Given the description of an element on the screen output the (x, y) to click on. 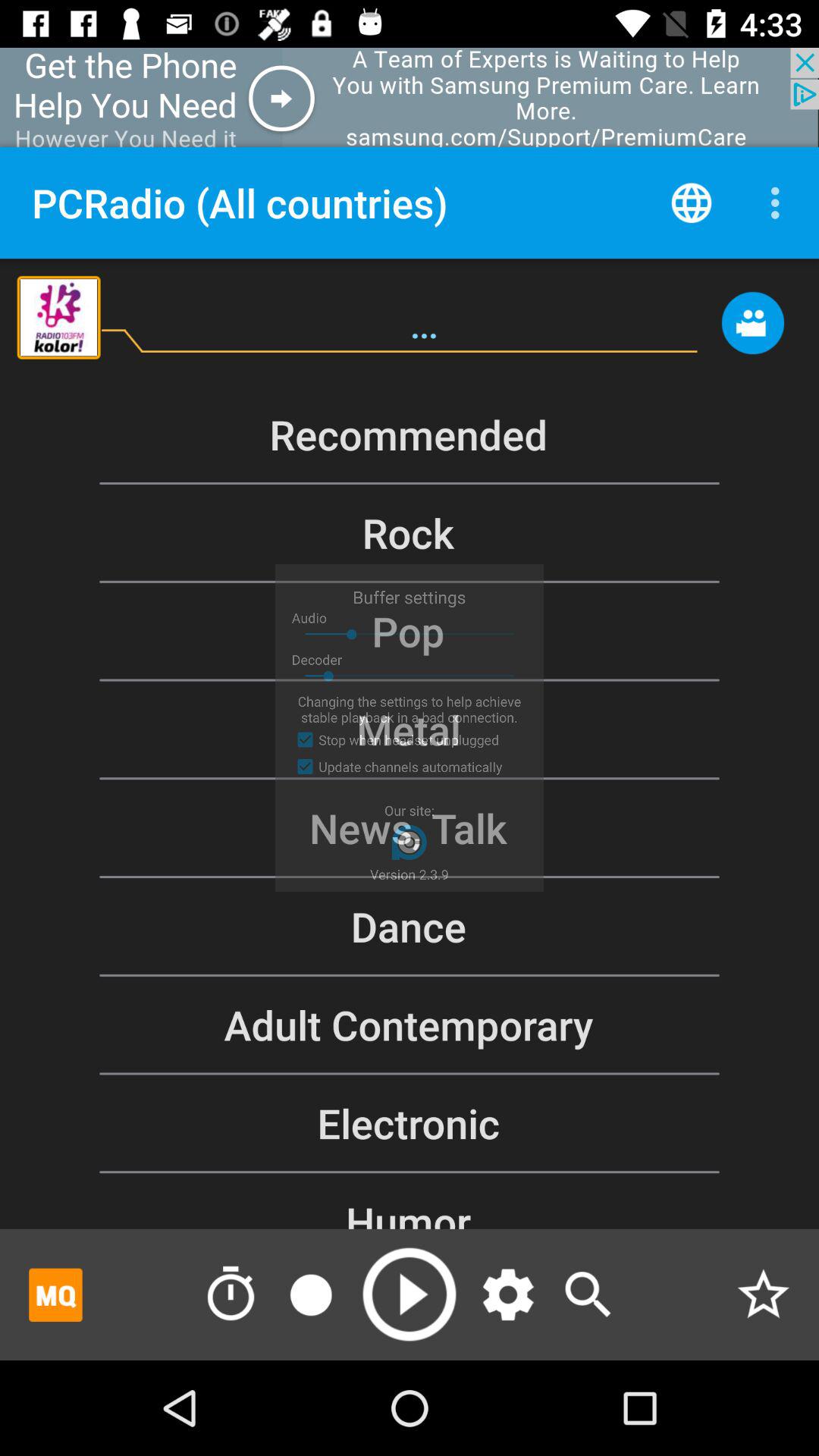
stop music (310, 1294)
